Given the description of an element on the screen output the (x, y) to click on. 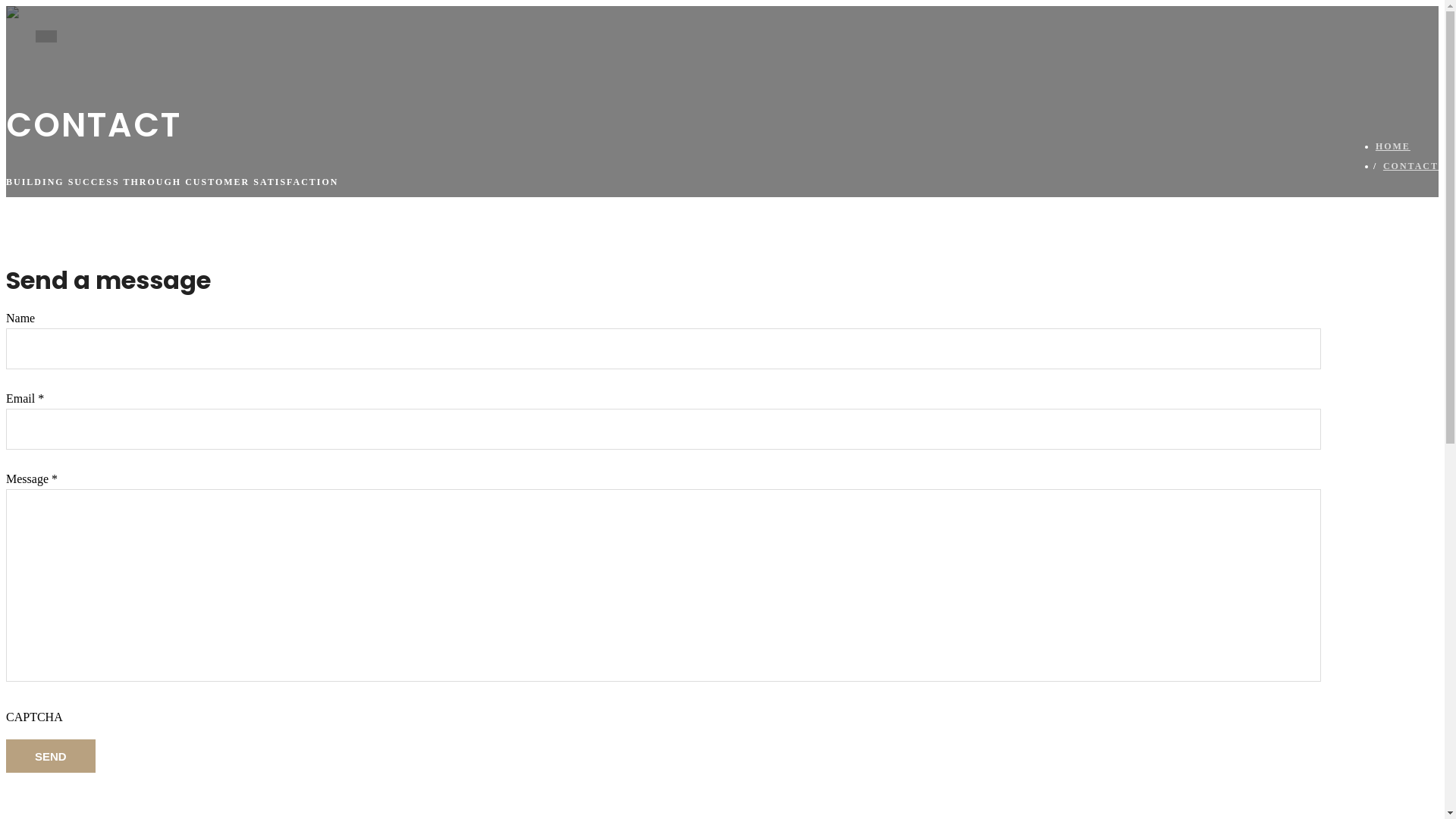
Send Element type: text (50, 755)
HOME Element type: text (1392, 146)
CONTACT Element type: text (1410, 165)
